Given the description of an element on the screen output the (x, y) to click on. 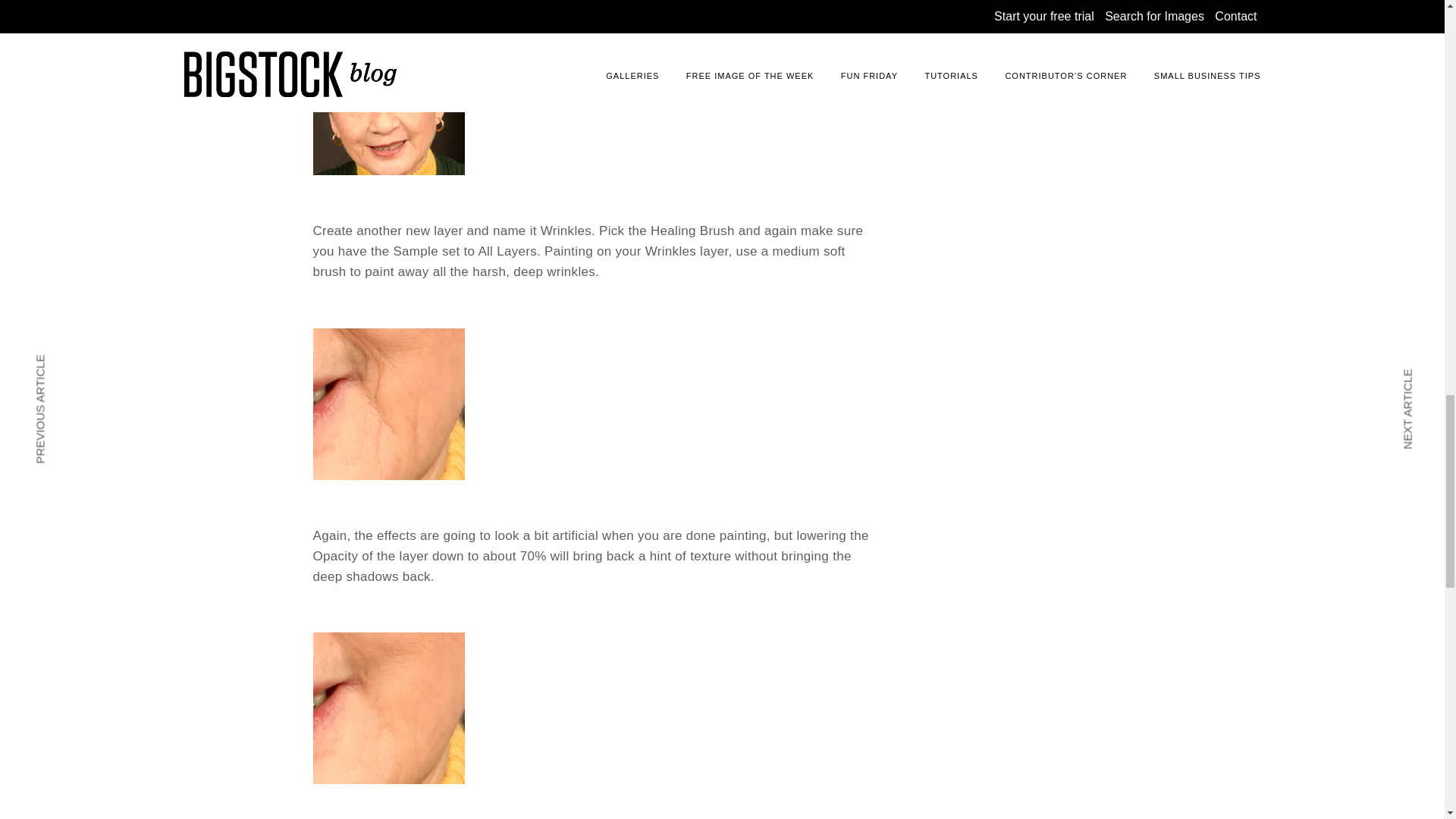
clonestamp06 (388, 403)
clonestamp07 (388, 707)
clonestamp05 (388, 99)
